Given the description of an element on the screen output the (x, y) to click on. 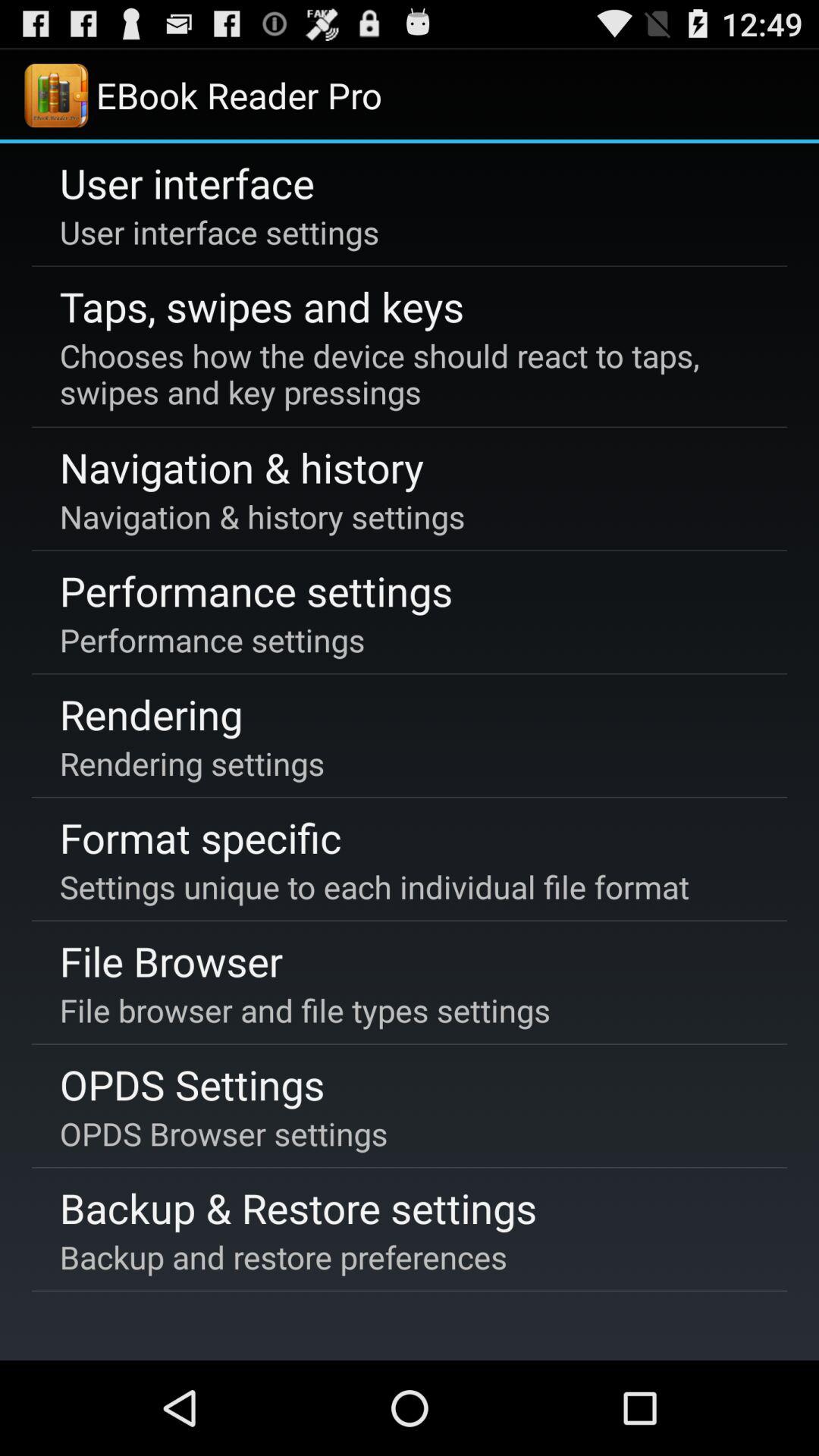
turn off item below rendering settings (200, 837)
